Given the description of an element on the screen output the (x, y) to click on. 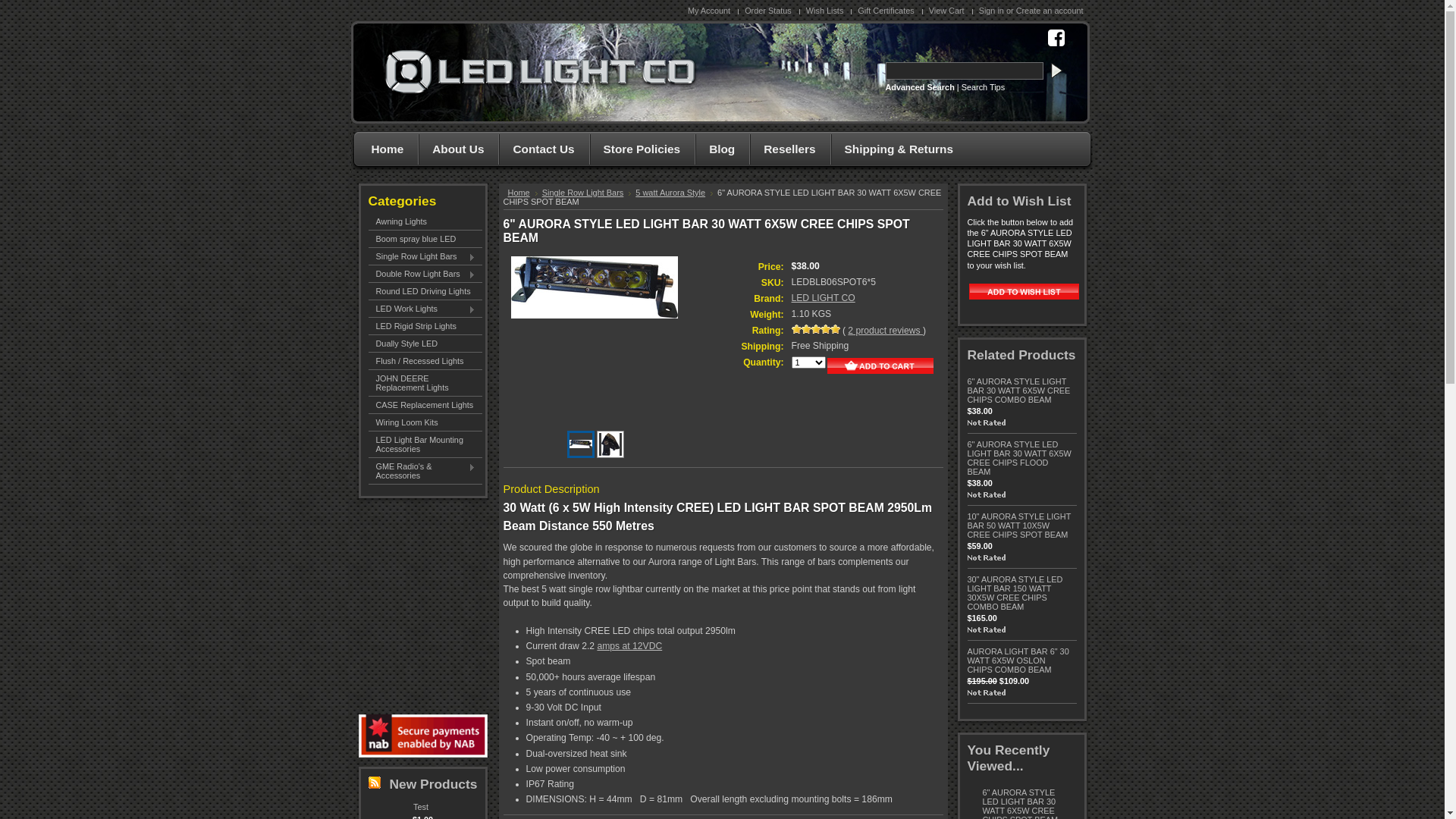
Secure Payments by NAB Element type: hover (421, 735)
Single Row Light Bars Element type: text (586, 192)
Advanced Search Element type: text (919, 86)
2 product reviews Element type: text (884, 330)
Image 1 Element type: hover (594, 287)
Awning Lights Element type: text (425, 221)
Home Element type: text (383, 150)
New Products RSS Feed Element type: hover (374, 782)
JOHN DEERE Replacement Lights Element type: text (425, 382)
Blog Element type: text (717, 150)
AURORA LIGHT BAR 6" 30 WATT 6X5W OSLON CHIPS COMBO BEAM Element type: text (1018, 660)
amps at 12VDC Element type: text (629, 645)
Gift Certificates Element type: text (887, 10)
Boom spray blue LED Element type: text (425, 238)
Dually Style LED Element type: text (425, 343)
5 watt Aurora Style Element type: text (673, 192)
View Cart Element type: text (948, 10)
LED Rigid Strip Lights Element type: text (425, 325)
LED Light Bar Mounting Accessories Element type: text (425, 444)
Create an account Element type: text (1049, 10)
Order Status Element type: text (769, 10)
Search Tips Element type: text (982, 86)
CASE Replacement Lights Element type: text (425, 404)
Store Policies Element type: text (638, 150)
Flush / Recessed Lights Element type: text (425, 360)
Wiring Loom Kits Element type: text (425, 422)
Resellers Element type: text (785, 150)
About Us Element type: text (453, 150)
Image 1 Element type: hover (579, 440)
Sign in Element type: text (991, 10)
Home Element type: text (522, 192)
0 Element type: text (580, 444)
0 Element type: text (609, 444)
Round LED Driving Lights Element type: text (425, 290)
Shipping & Returns Element type: text (895, 150)
171 Element type: text (4, 4)
My Account Element type: text (710, 10)
Contact Us Element type: text (539, 150)
Image 2 Element type: hover (609, 444)
6" AURORA STYLE LIGHT BAR 30 WATT 6X5W CREE CHIPS COMBO BEAM Element type: text (1018, 390)
Wish Lists Element type: text (826, 10)
LED LIGHT CO Element type: text (823, 297)
Test Element type: text (420, 806)
